Given the description of an element on the screen output the (x, y) to click on. 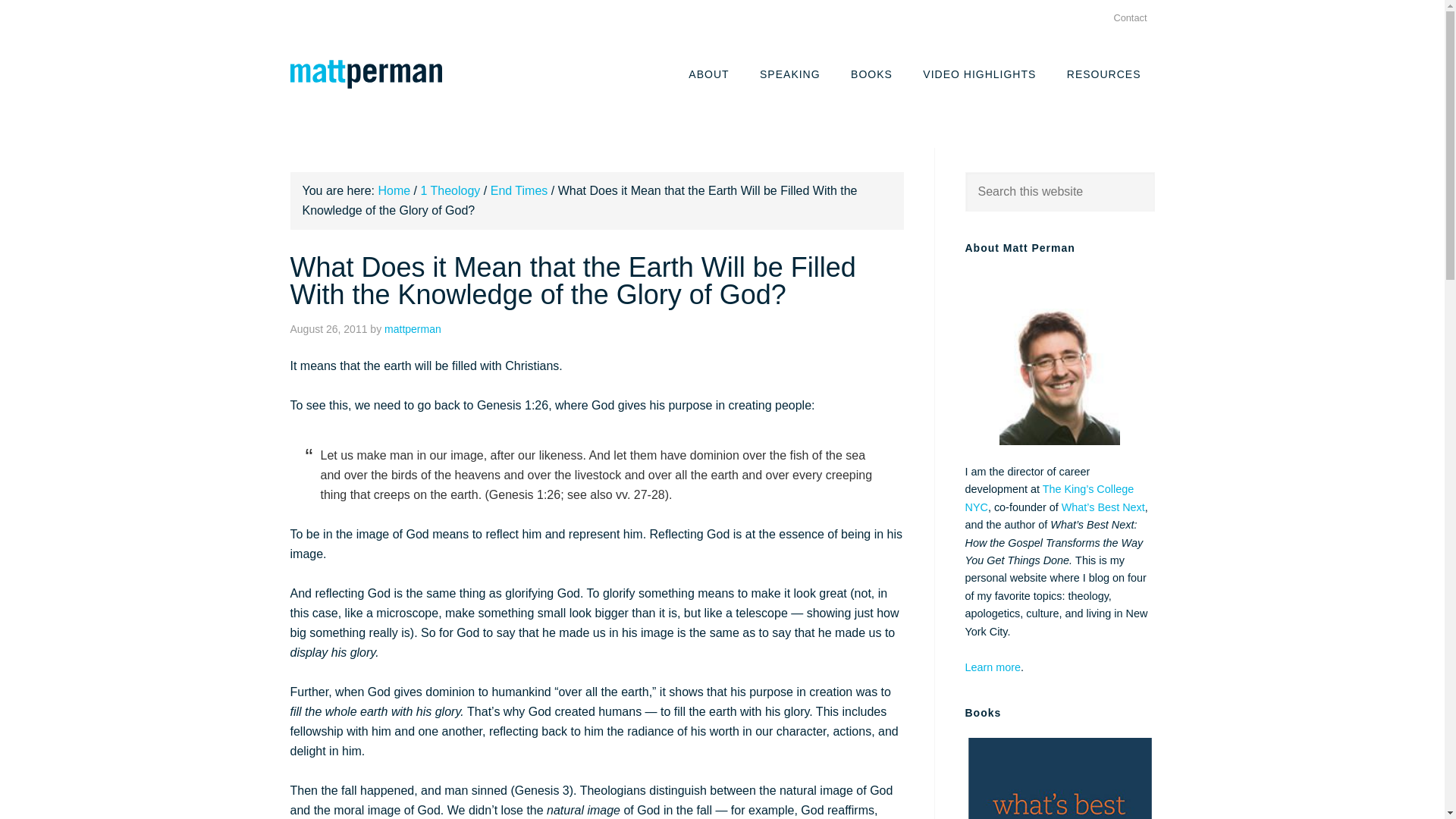
mattperman (412, 328)
MATTPERMAN.COM (365, 74)
Contact (1130, 18)
End Times (519, 190)
BOOKS (871, 73)
RESOURCES (1103, 73)
1 Theology (450, 190)
Learn more (991, 666)
Home (393, 190)
VIDEO HIGHLIGHTS (978, 73)
SPEAKING (789, 73)
ABOUT (708, 73)
